Given the description of an element on the screen output the (x, y) to click on. 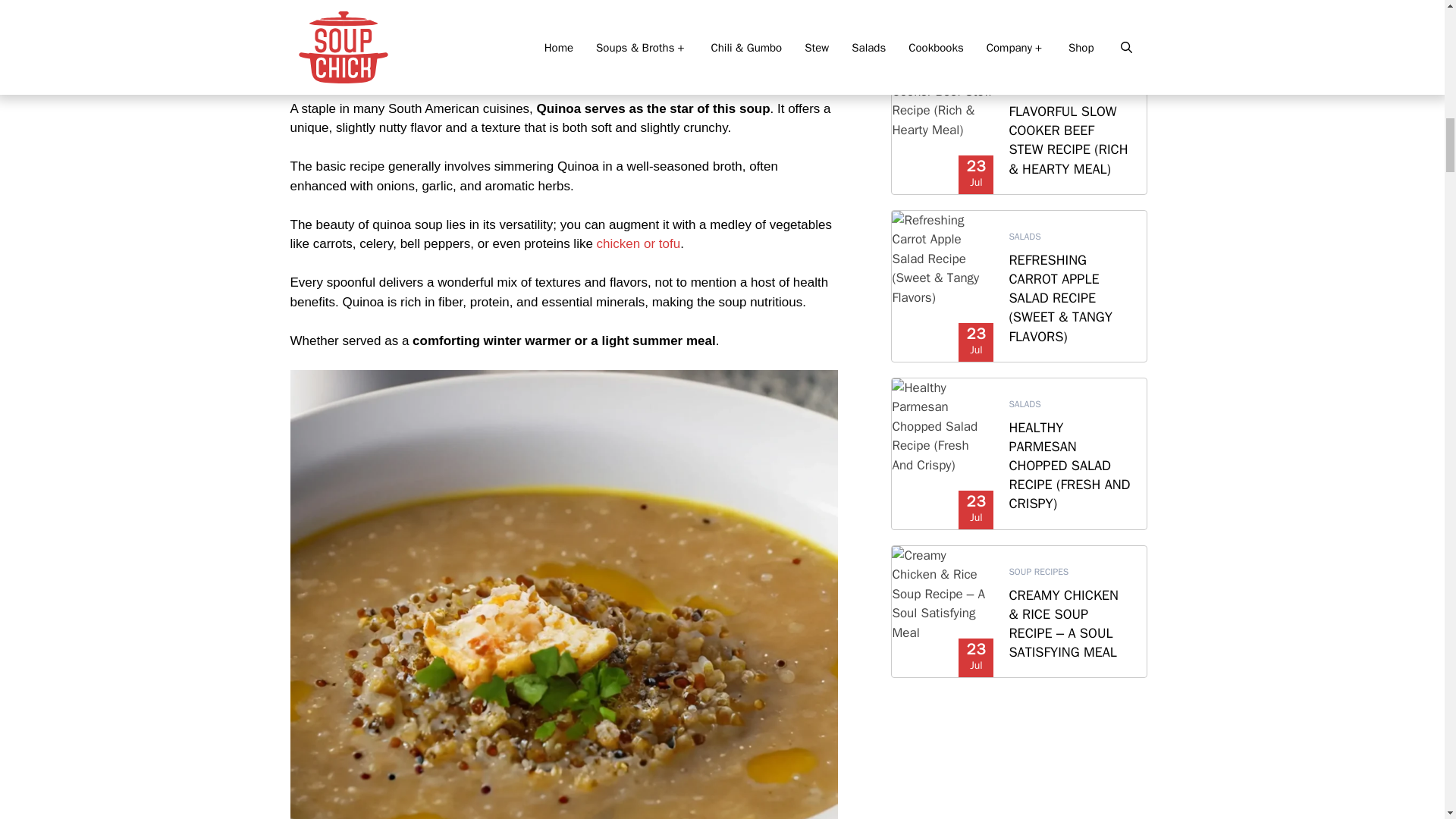
chicken or tofu (638, 243)
